Given the description of an element on the screen output the (x, y) to click on. 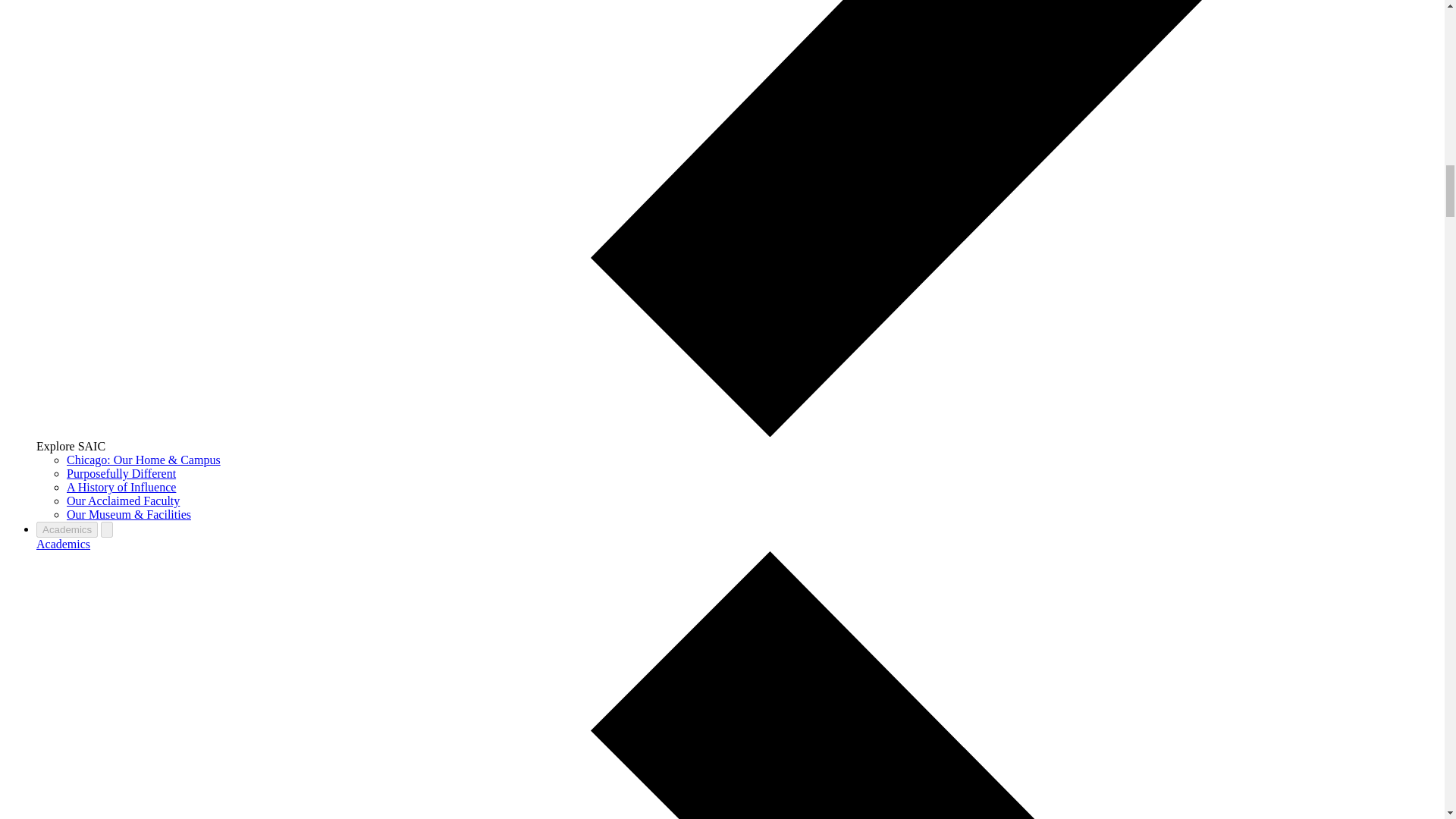
A History of Influence (121, 486)
Academics (63, 543)
Purposefully Different (121, 472)
Academics (66, 529)
Our Acclaimed Faculty (122, 500)
